Given the description of an element on the screen output the (x, y) to click on. 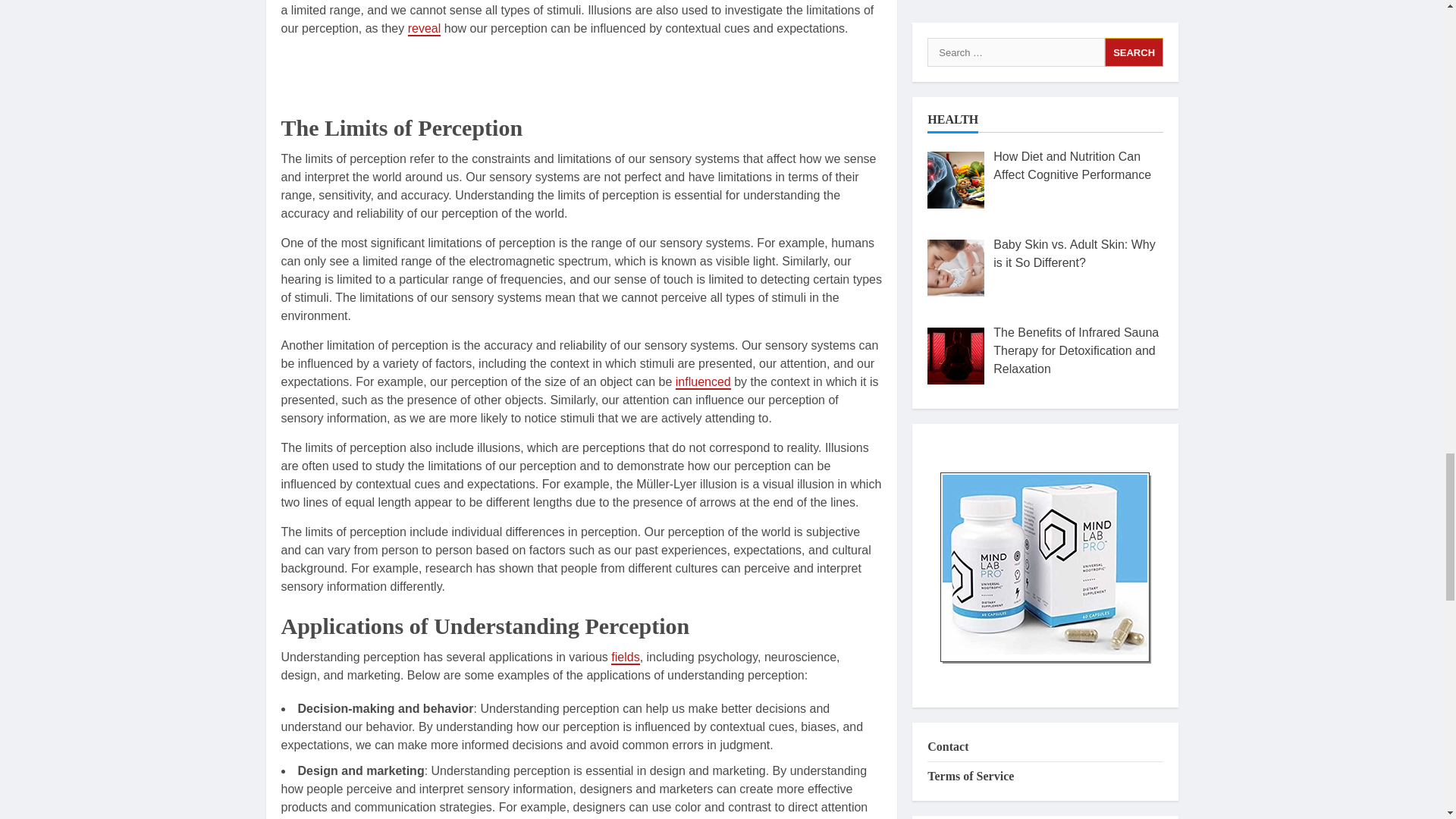
influenced (702, 382)
reveal (424, 29)
fields (625, 657)
